Given the description of an element on the screen output the (x, y) to click on. 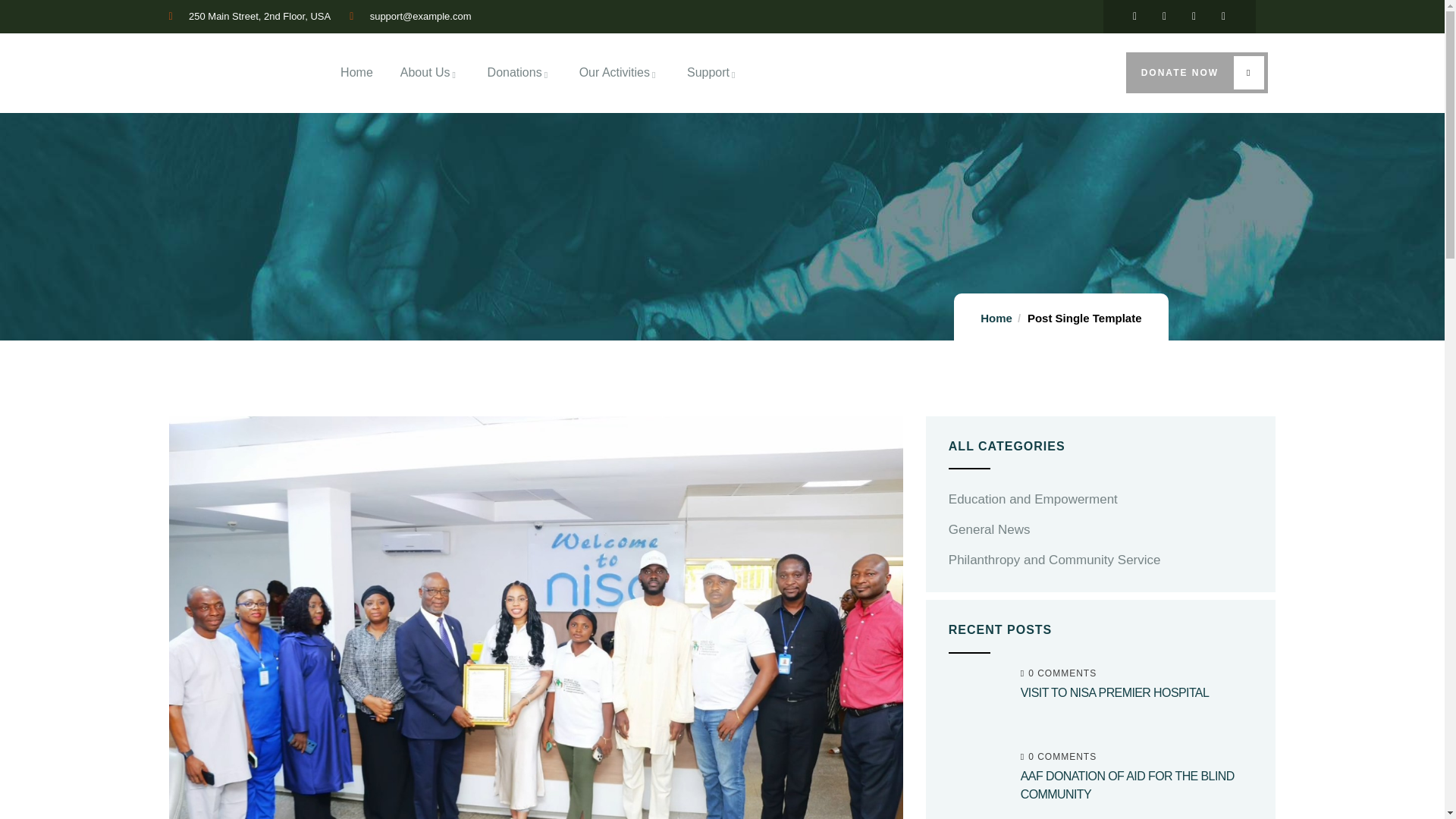
About Us (430, 72)
Home (356, 72)
Our Activities (619, 72)
Donations (519, 72)
